Given the description of an element on the screen output the (x, y) to click on. 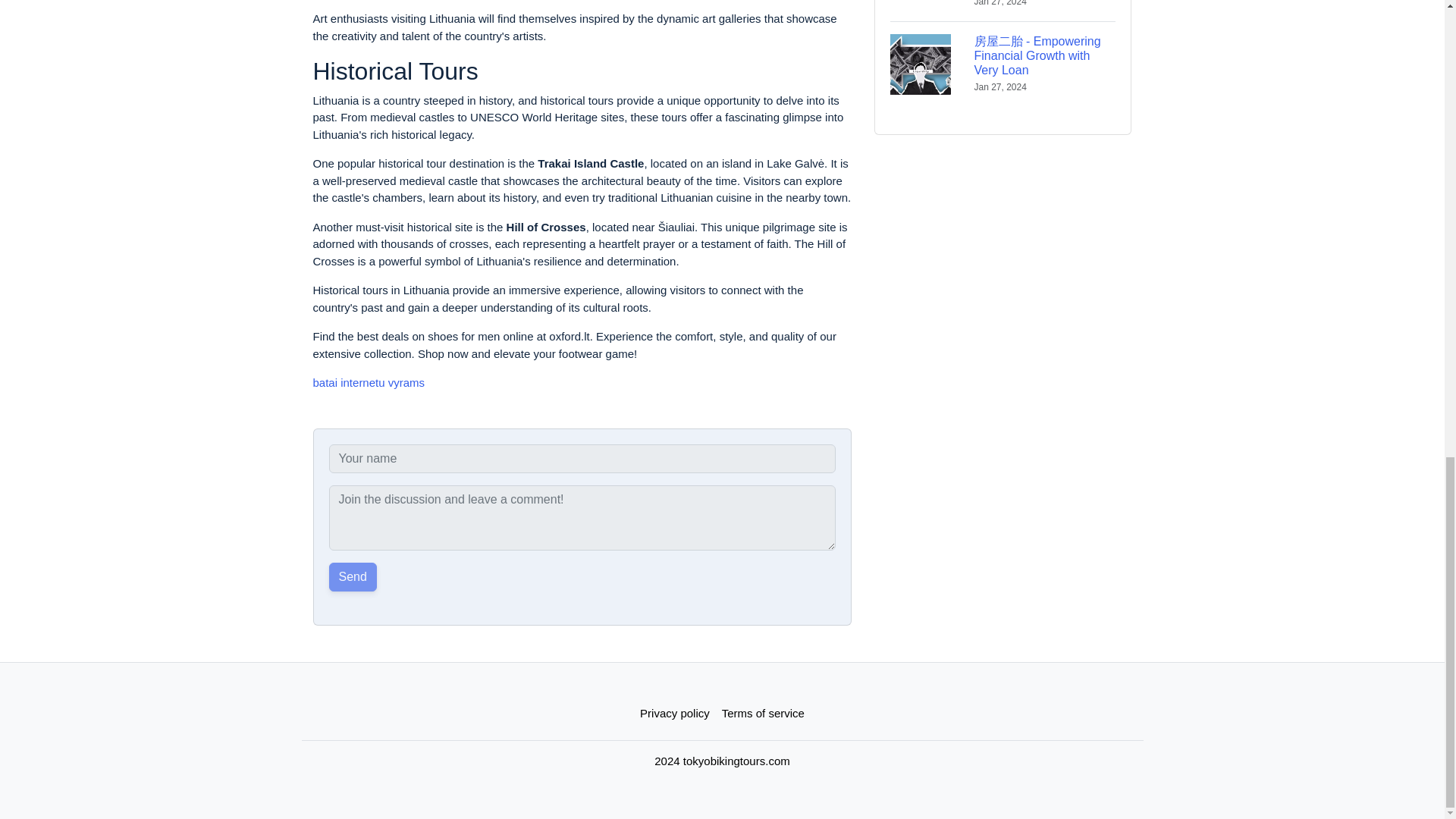
Privacy policy (674, 713)
Send (353, 576)
Send (353, 576)
Terms of service (763, 713)
batai internetu vyrams (369, 382)
